Given the description of an element on the screen output the (x, y) to click on. 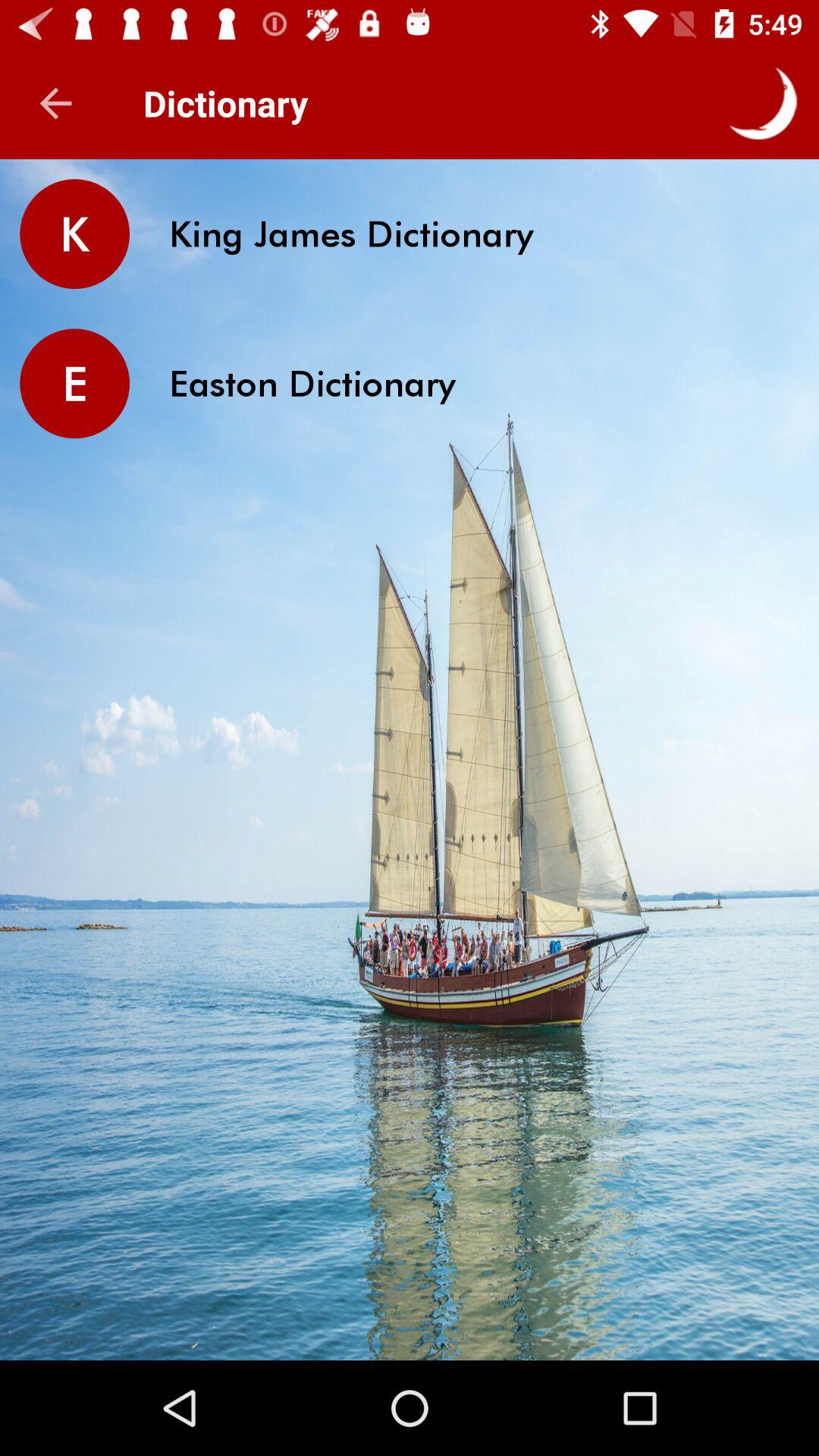
set as night mode (763, 103)
